Given the description of an element on the screen output the (x, y) to click on. 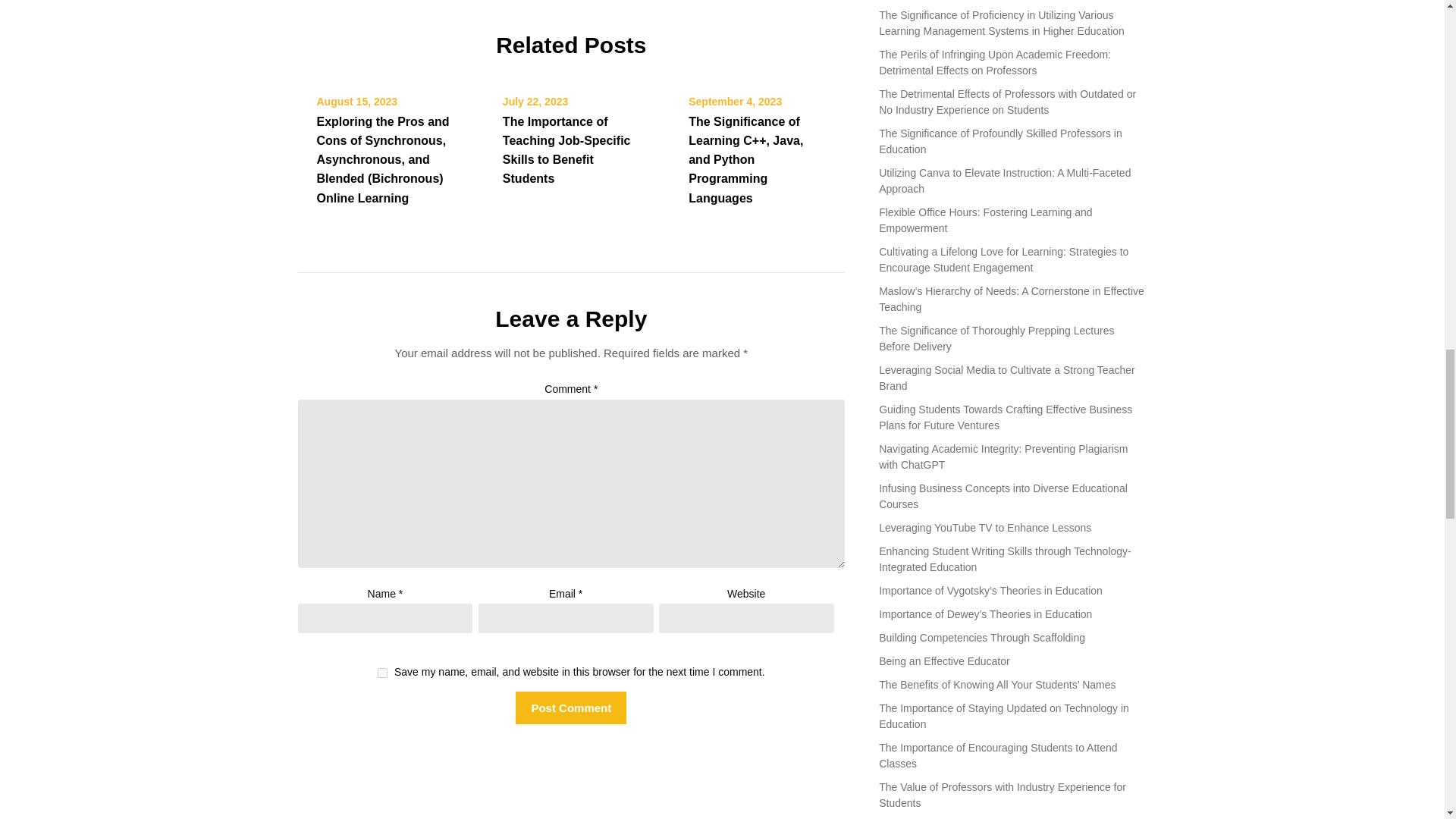
Post Comment (570, 707)
Post Comment (570, 707)
yes (382, 673)
